Given the description of an element on the screen output the (x, y) to click on. 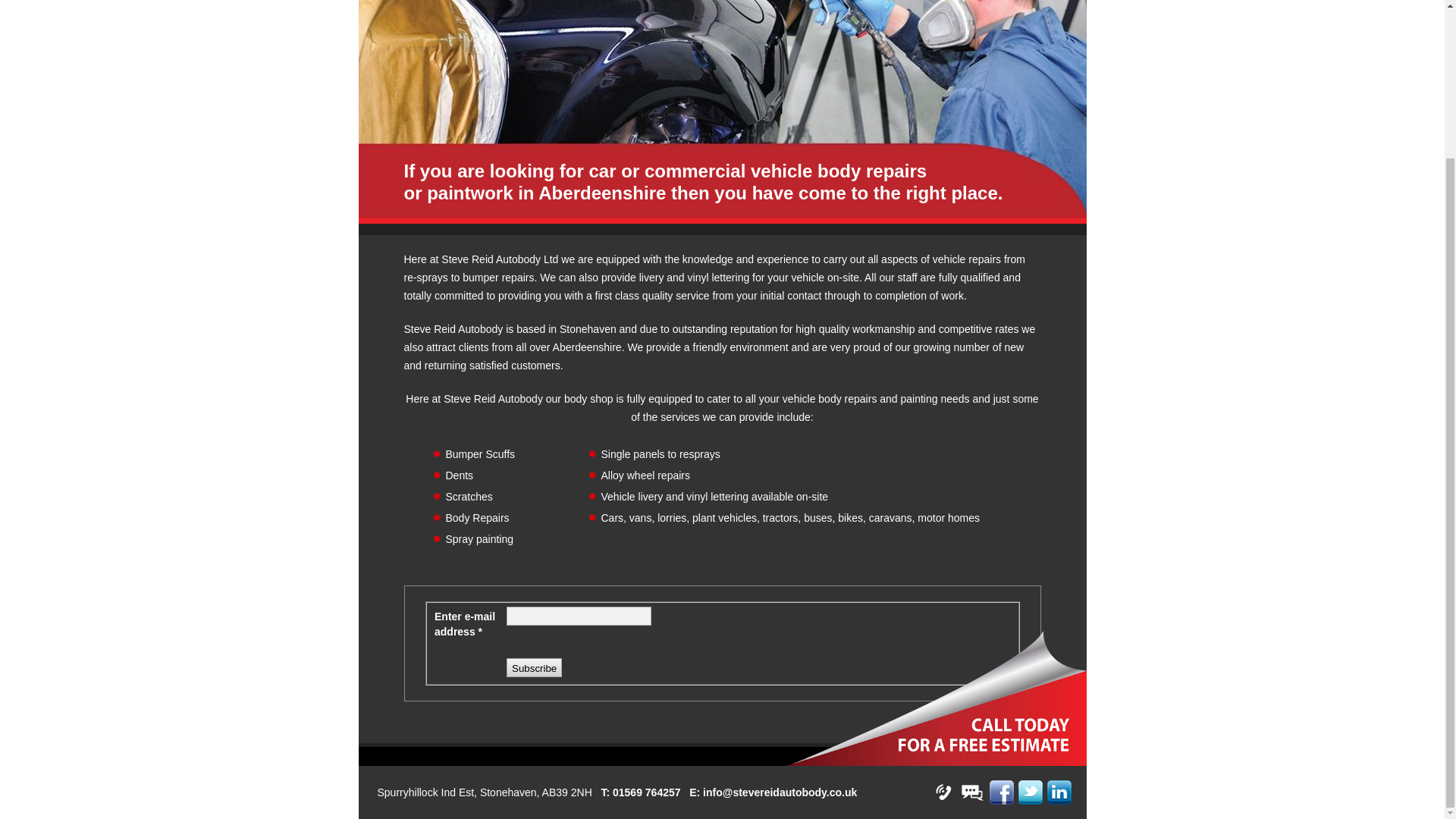
01569 764257 (646, 792)
Subscribe (534, 667)
Subscribe (534, 667)
